Given the description of an element on the screen output the (x, y) to click on. 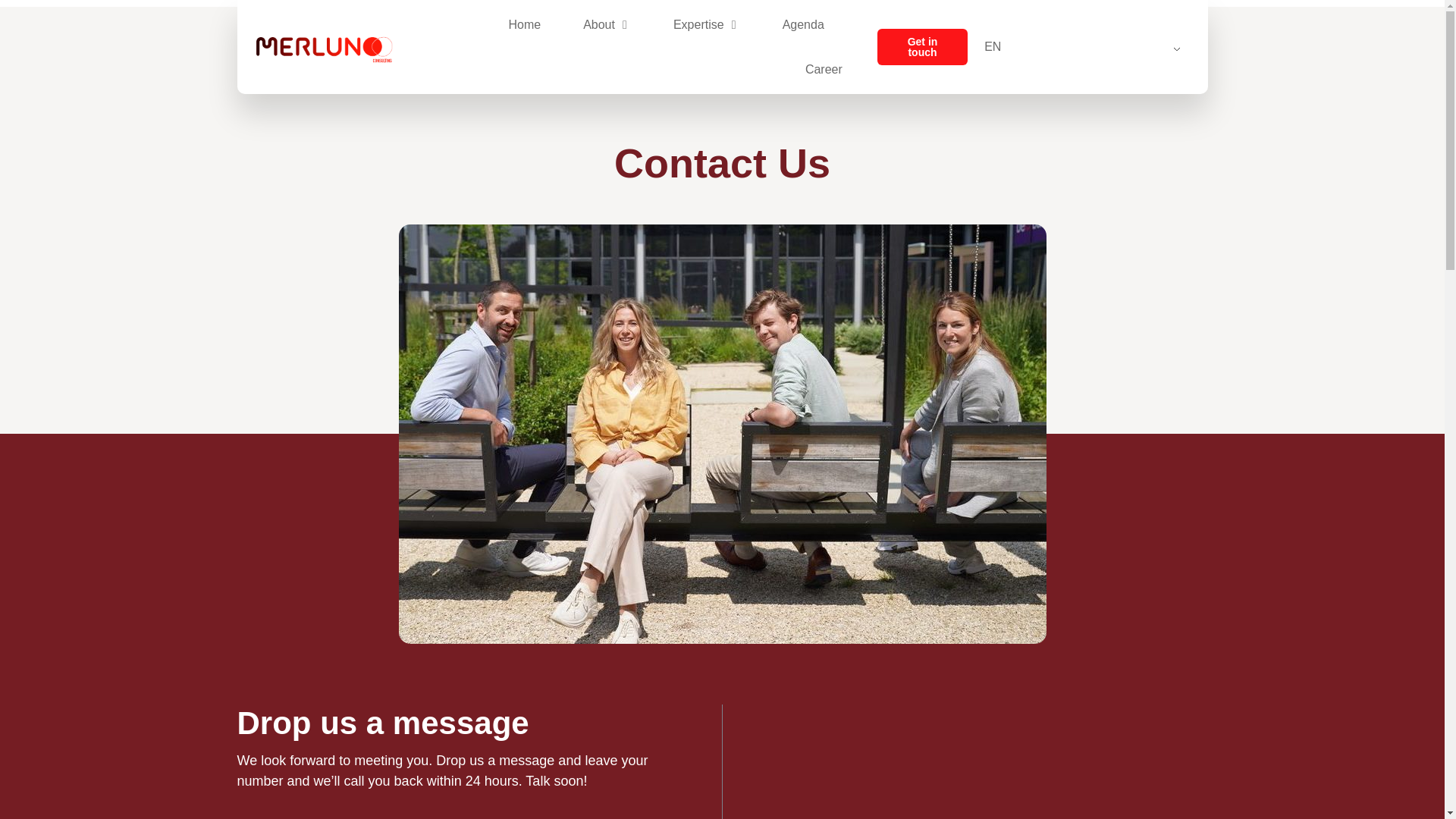
Home (524, 24)
Get in touch (922, 46)
About (598, 24)
EN (1082, 46)
Agenda (803, 24)
Career (824, 69)
English (1082, 46)
